Given the description of an element on the screen output the (x, y) to click on. 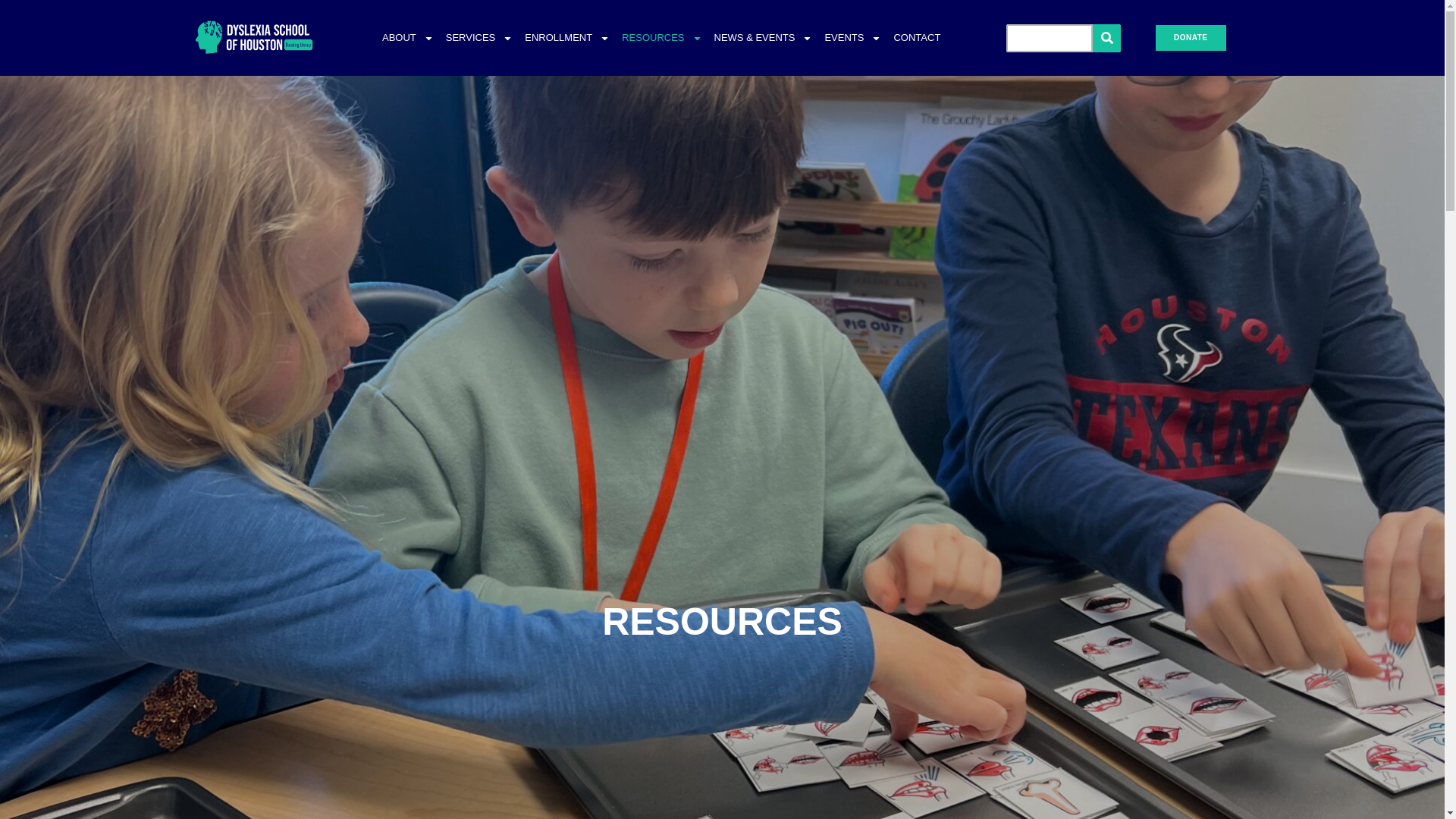
CONTACT (916, 37)
ABOUT (407, 37)
ENROLLMENT (566, 37)
EVENTS (852, 37)
RESOURCES (661, 37)
SERVICES (479, 37)
